Given the description of an element on the screen output the (x, y) to click on. 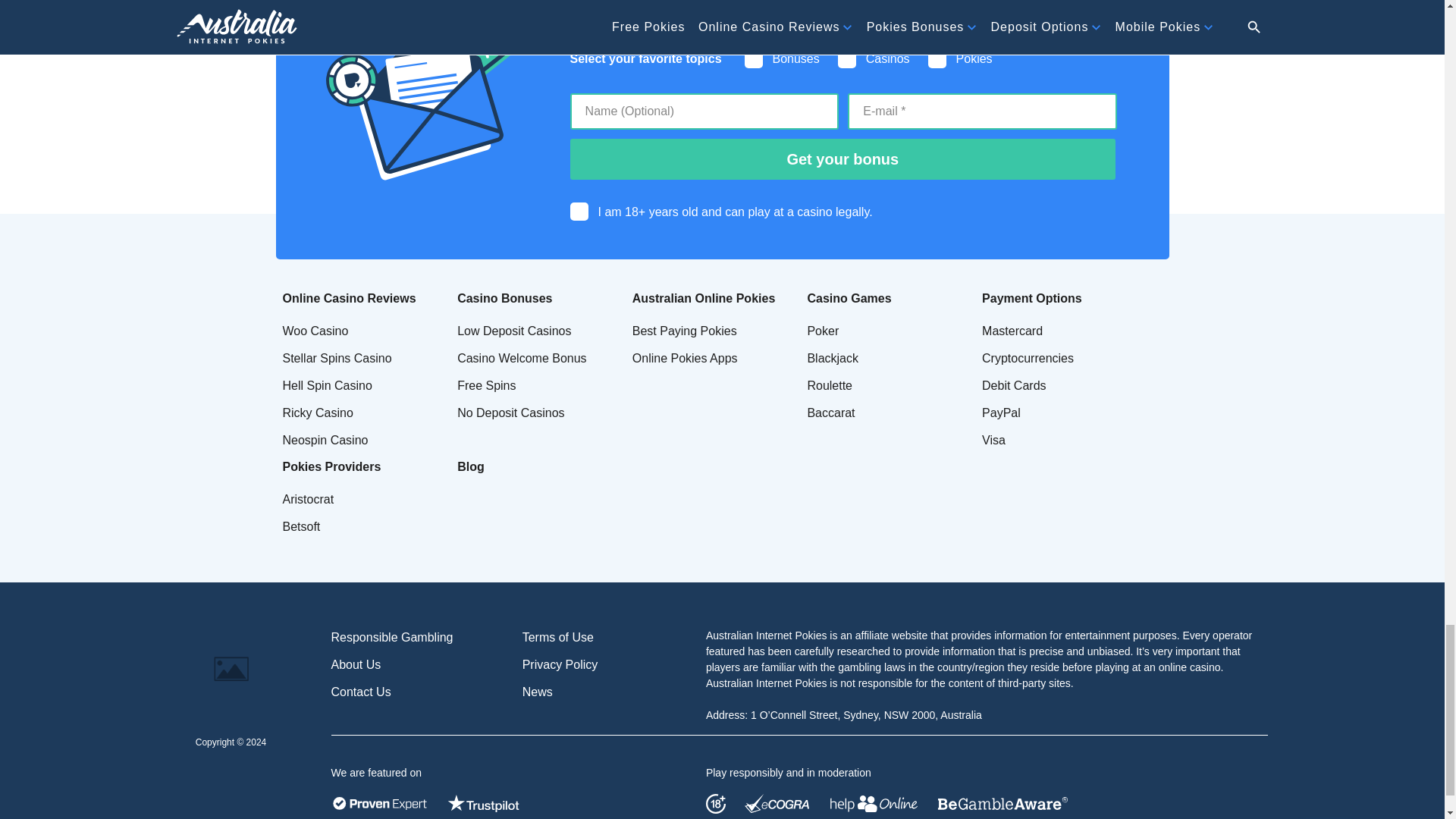
Get your bonus (843, 158)
